Given the description of an element on the screen output the (x, y) to click on. 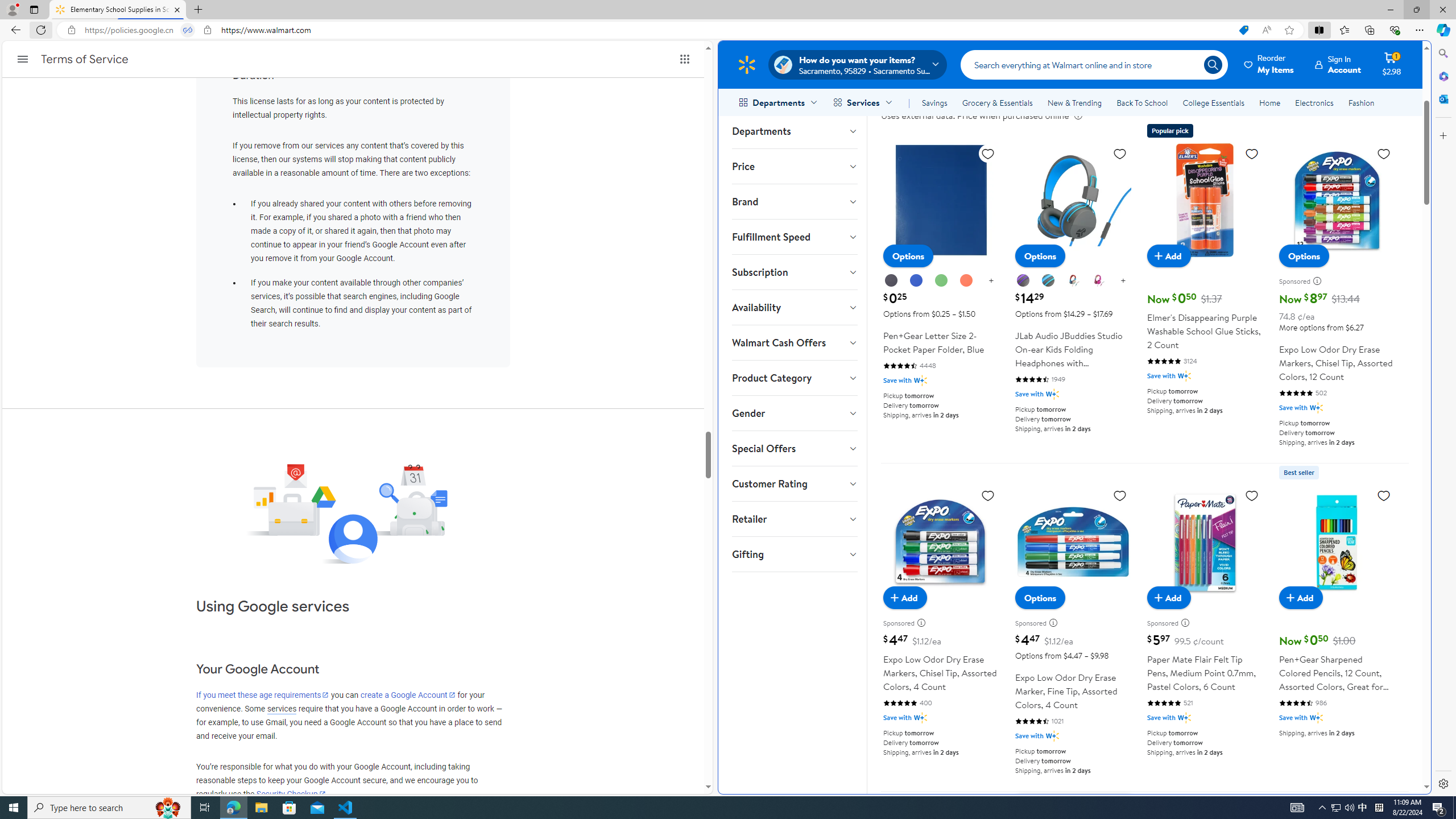
Close Search pane (1442, 53)
Retailer (794, 518)
Sign InAccount (1338, 64)
Multicolor (1072, 280)
Graphite Purple (1022, 280)
Special Offers (794, 448)
New & Trending (1075, 102)
Multicolor (1073, 280)
Retailer (794, 518)
